Given the description of an element on the screen output the (x, y) to click on. 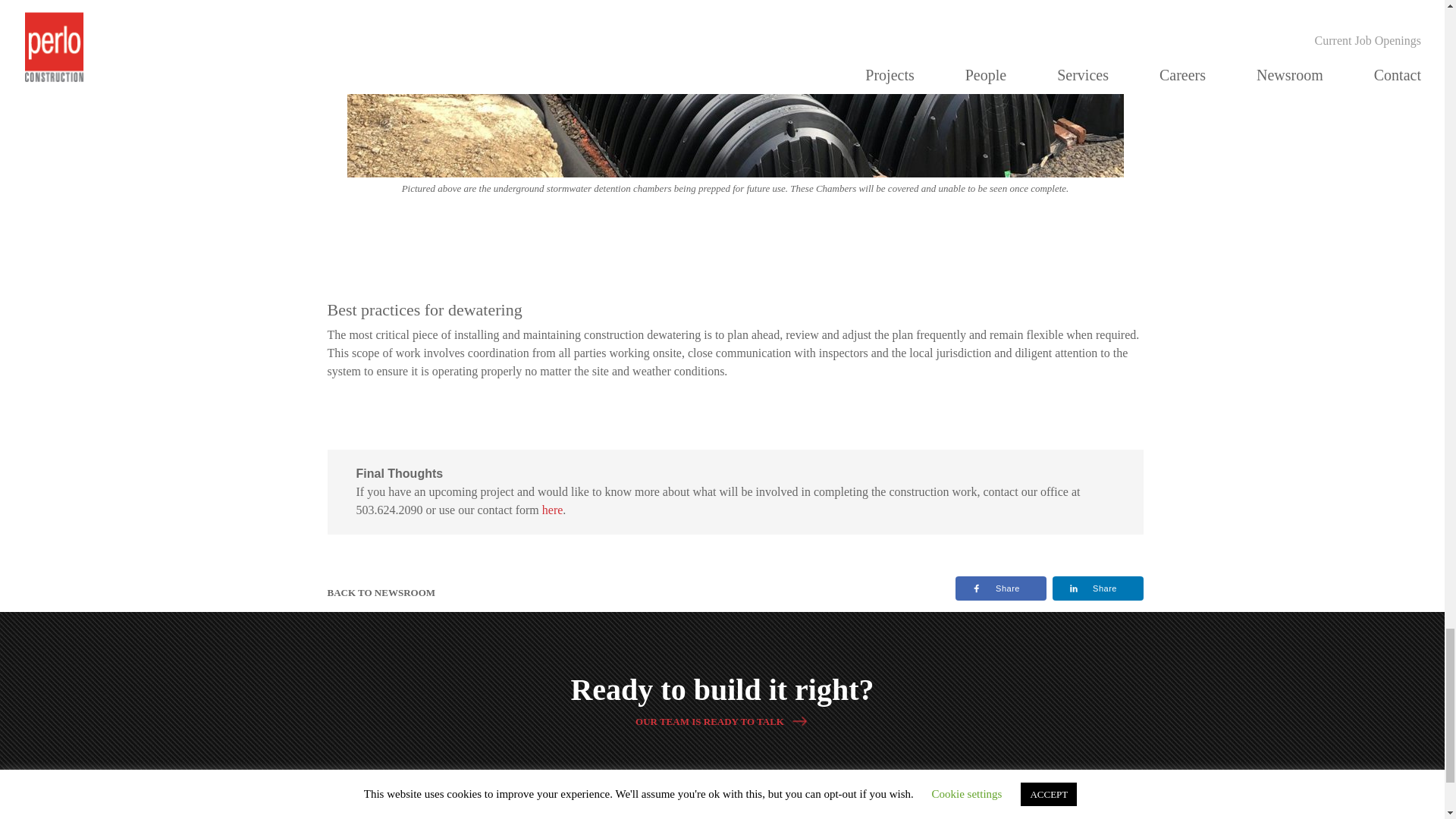
here (552, 509)
BACK TO NEWSROOM (381, 592)
OUR TEAM IS READY TO TALK (721, 721)
